Given the description of an element on the screen output the (x, y) to click on. 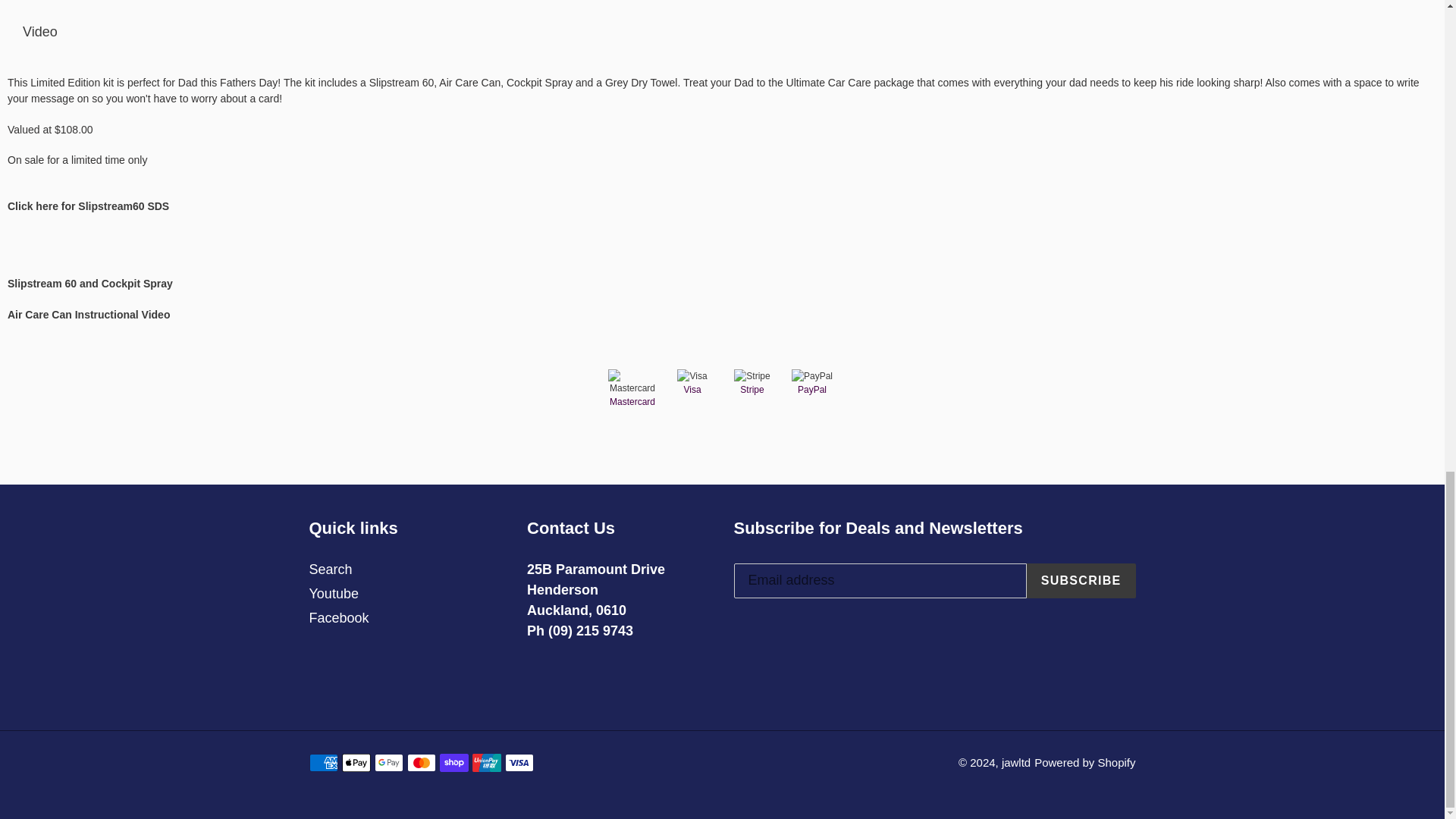
Click here for Slipstream60 SDS (87, 205)
